Given the description of an element on the screen output the (x, y) to click on. 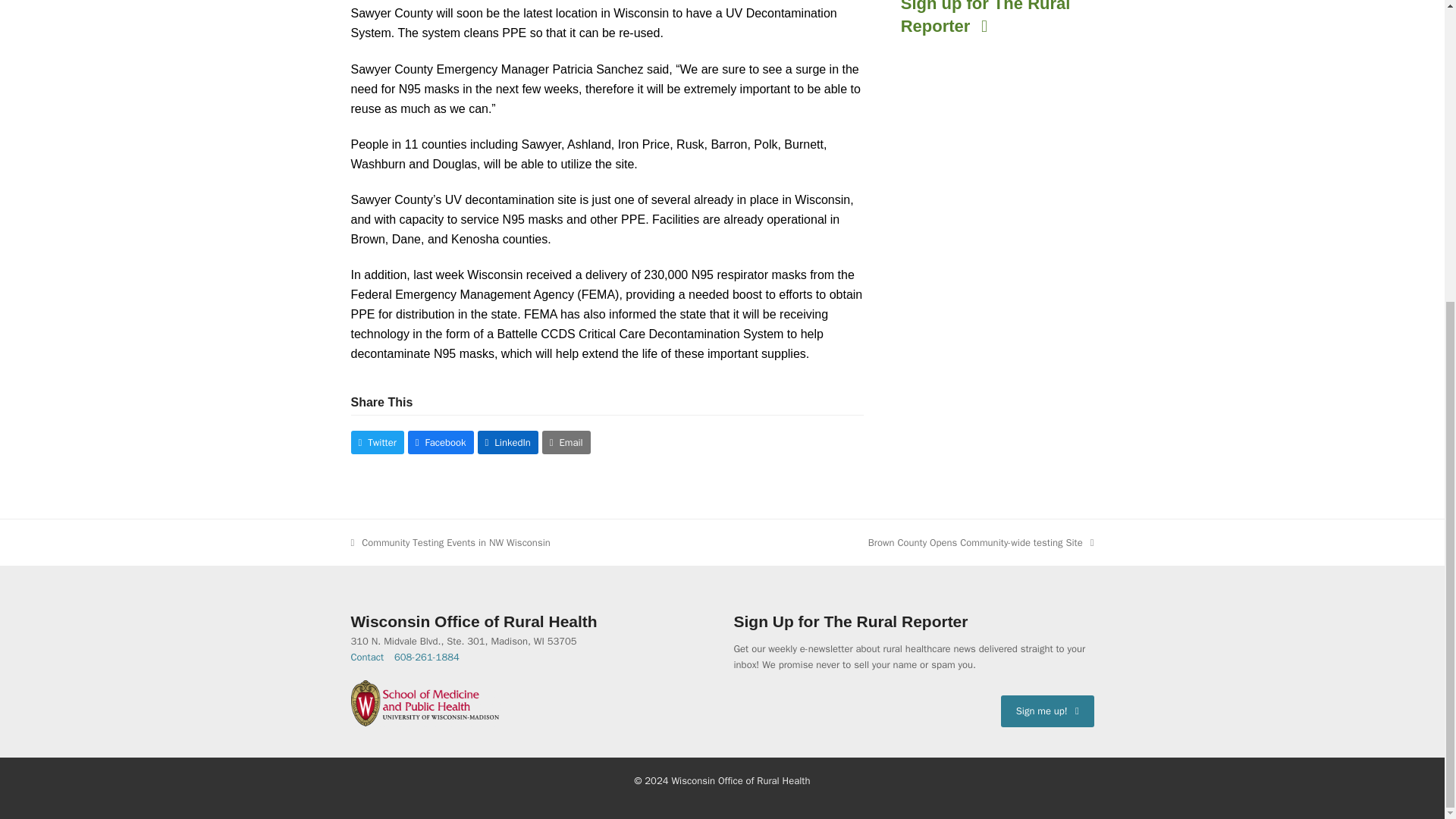
Facebook (440, 442)
608-261-1884 (427, 656)
Sign up for The Rural Reporter (997, 26)
Sign me up! (450, 542)
Contact (1047, 710)
LinkedIn (367, 656)
Email (507, 442)
Twitter (566, 442)
